Given the description of an element on the screen output the (x, y) to click on. 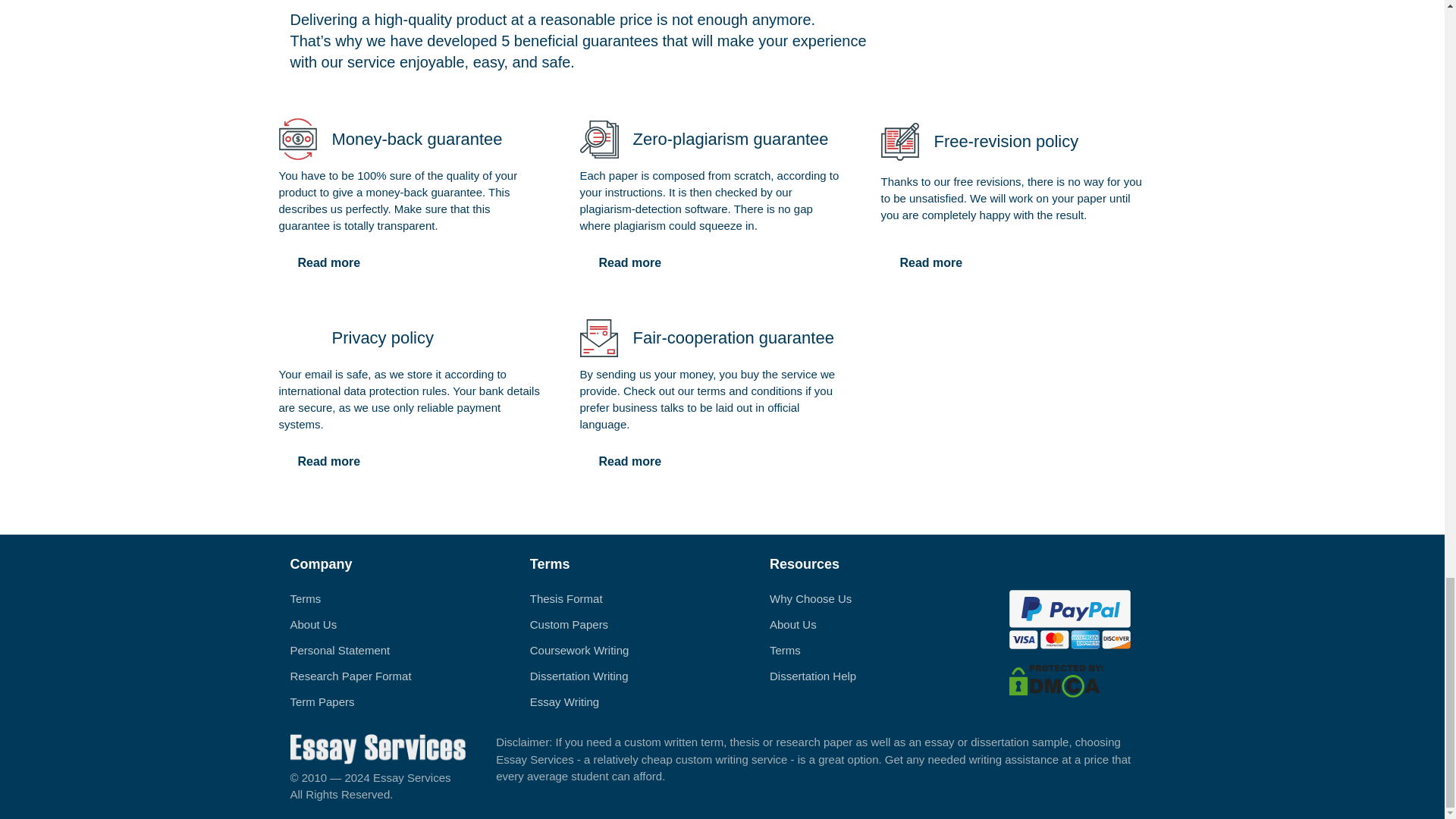
Research Paper Format (349, 675)
Read more (329, 461)
Read more (329, 263)
Read more (629, 461)
Read more (629, 263)
Terms (304, 598)
Term Papers (321, 701)
Personal Statement (339, 649)
DMCA (1056, 679)
Thesis Format (565, 598)
About Us (312, 624)
Read more (930, 263)
Custom Papers (568, 624)
